Given the description of an element on the screen output the (x, y) to click on. 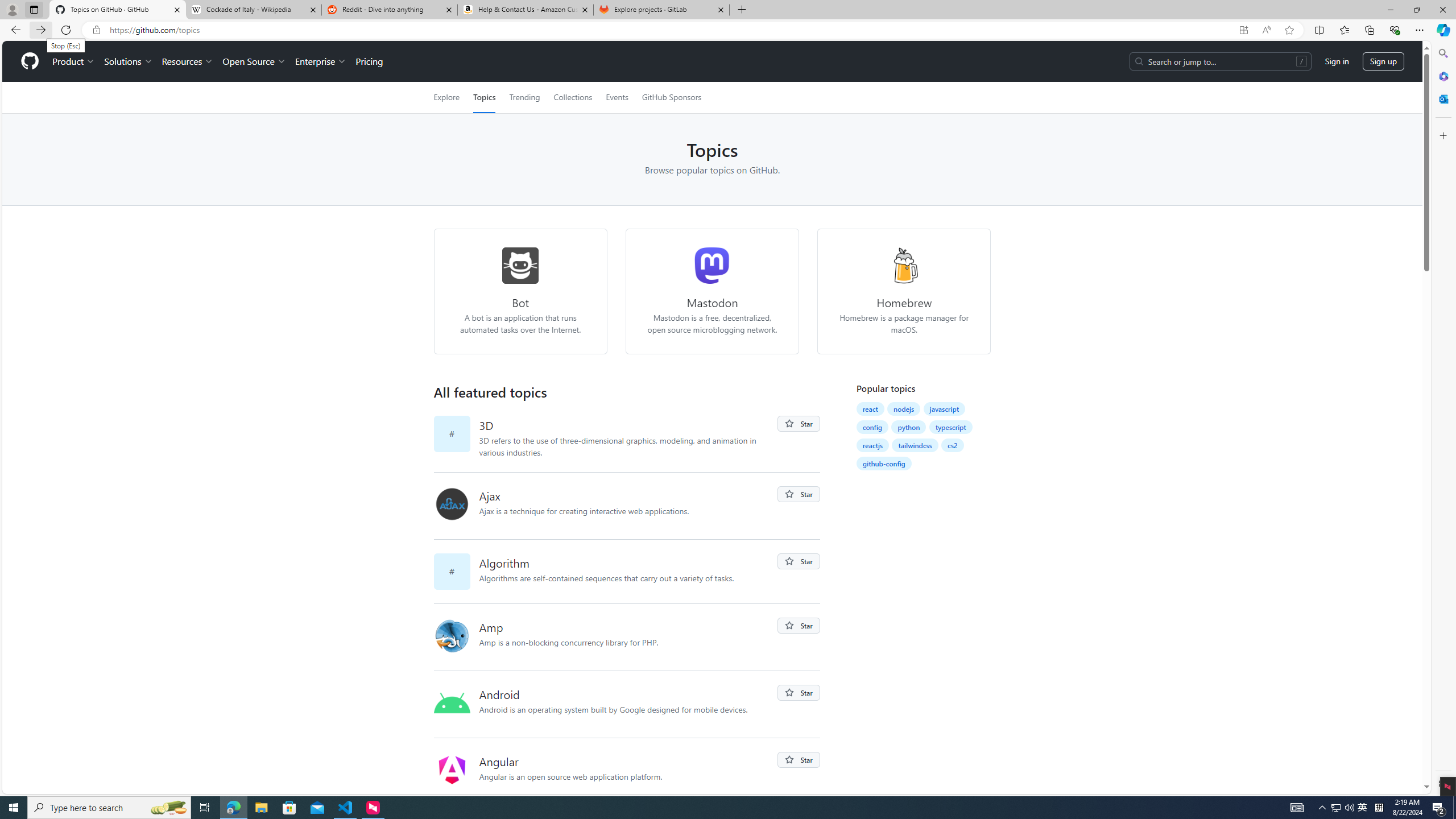
Customize (1442, 135)
amphp (456, 636)
angular (451, 769)
config (872, 426)
typescript (950, 427)
python (908, 427)
mastodon (712, 265)
cs2 (952, 445)
react (869, 409)
Open Source (254, 60)
